Given the description of an element on the screen output the (x, y) to click on. 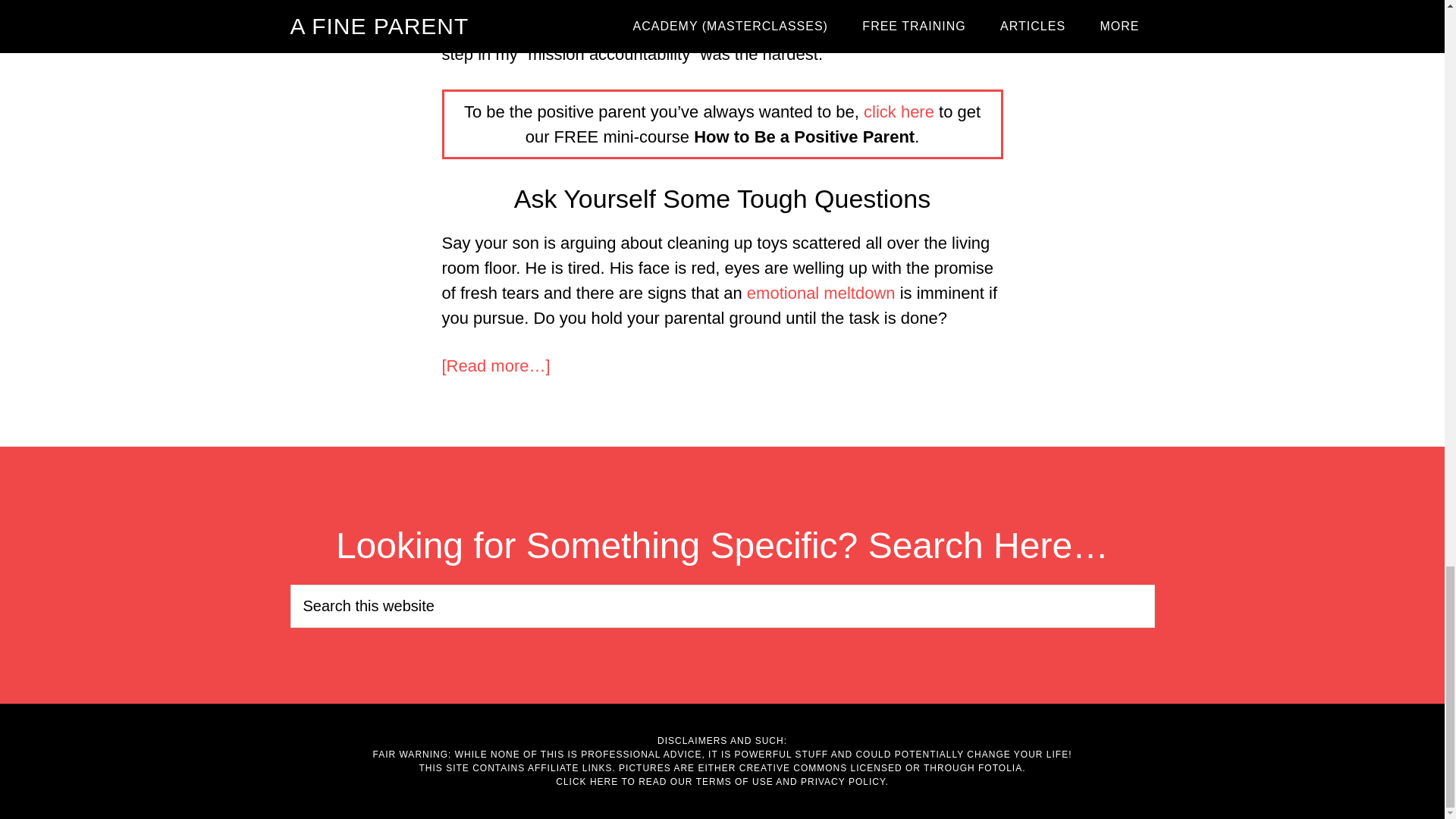
click here (898, 111)
TERMS OF USE (734, 781)
emotional meltdown (820, 292)
myself am a work in progress (643, 28)
PRIVACY POLICY. (844, 781)
